Given the description of an element on the screen output the (x, y) to click on. 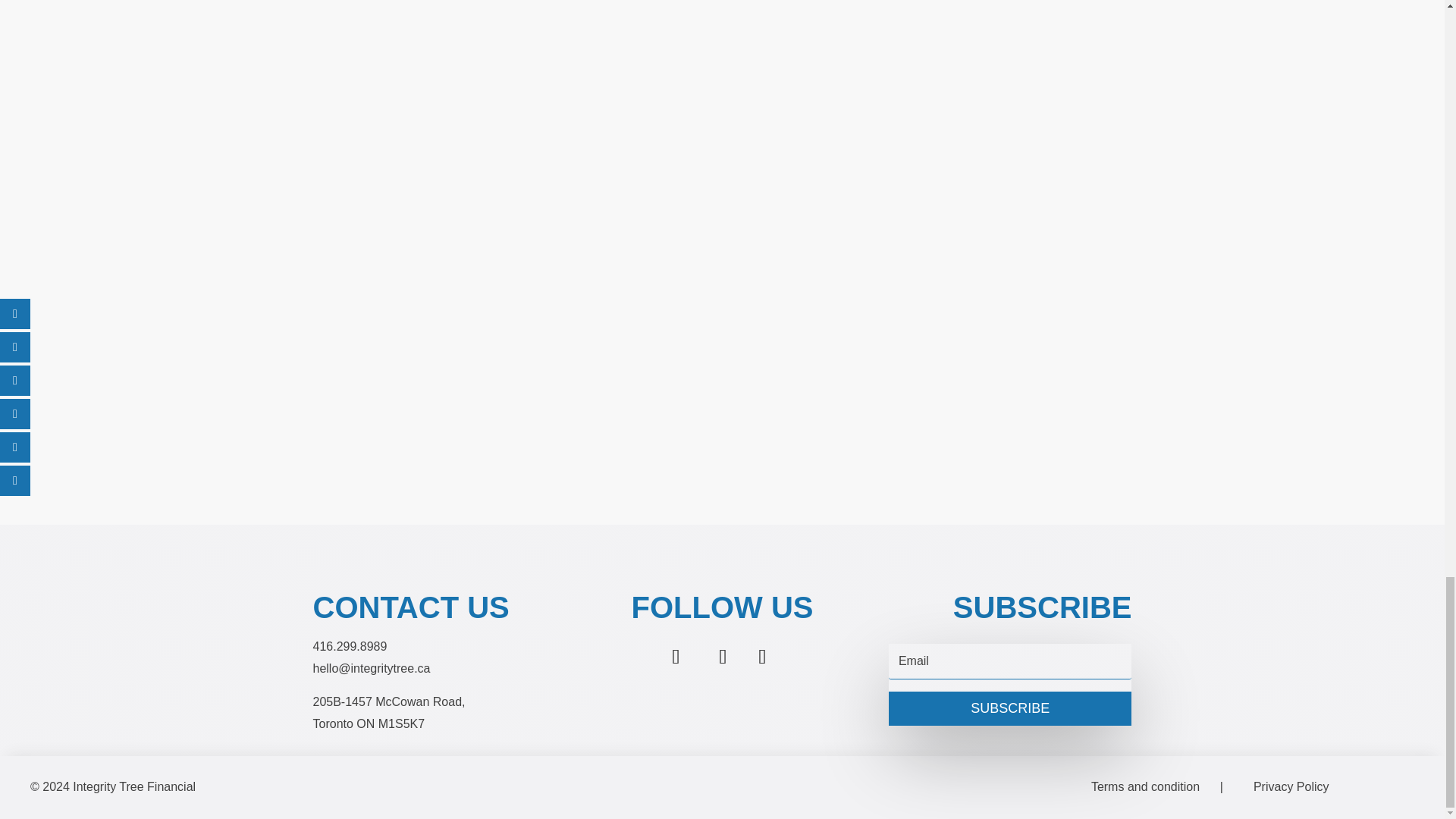
Follow on Facebook (762, 656)
Privacy Policy (1291, 786)
Terms and condition (1144, 786)
Follow on Instagram (721, 656)
SUBSCRIBE (1009, 708)
Follow on LinkedIn (675, 656)
